Given the description of an element on the screen output the (x, y) to click on. 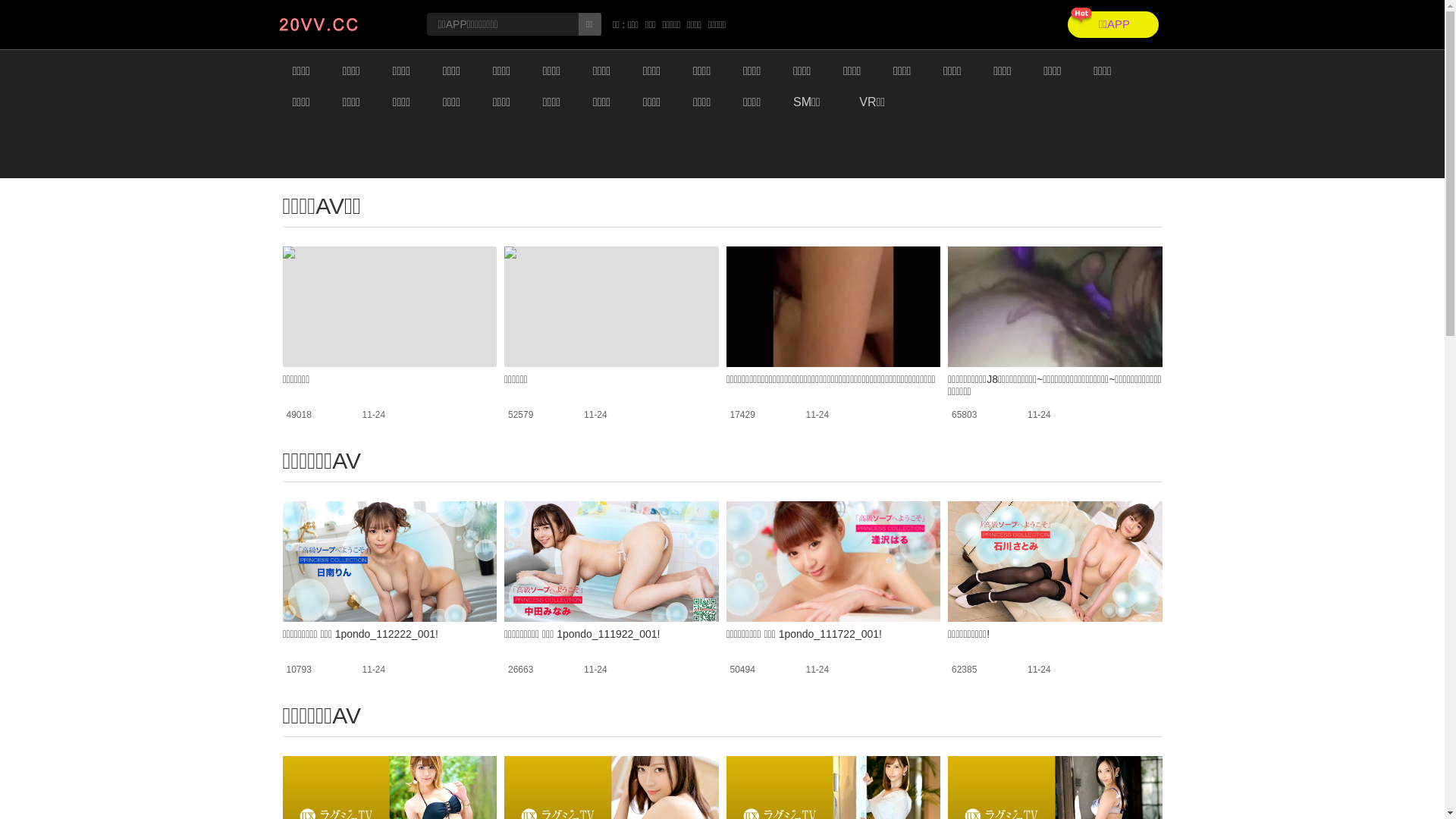
static/images/logo.jpg Element type: text (340, 24)
